Given the description of an element on the screen output the (x, y) to click on. 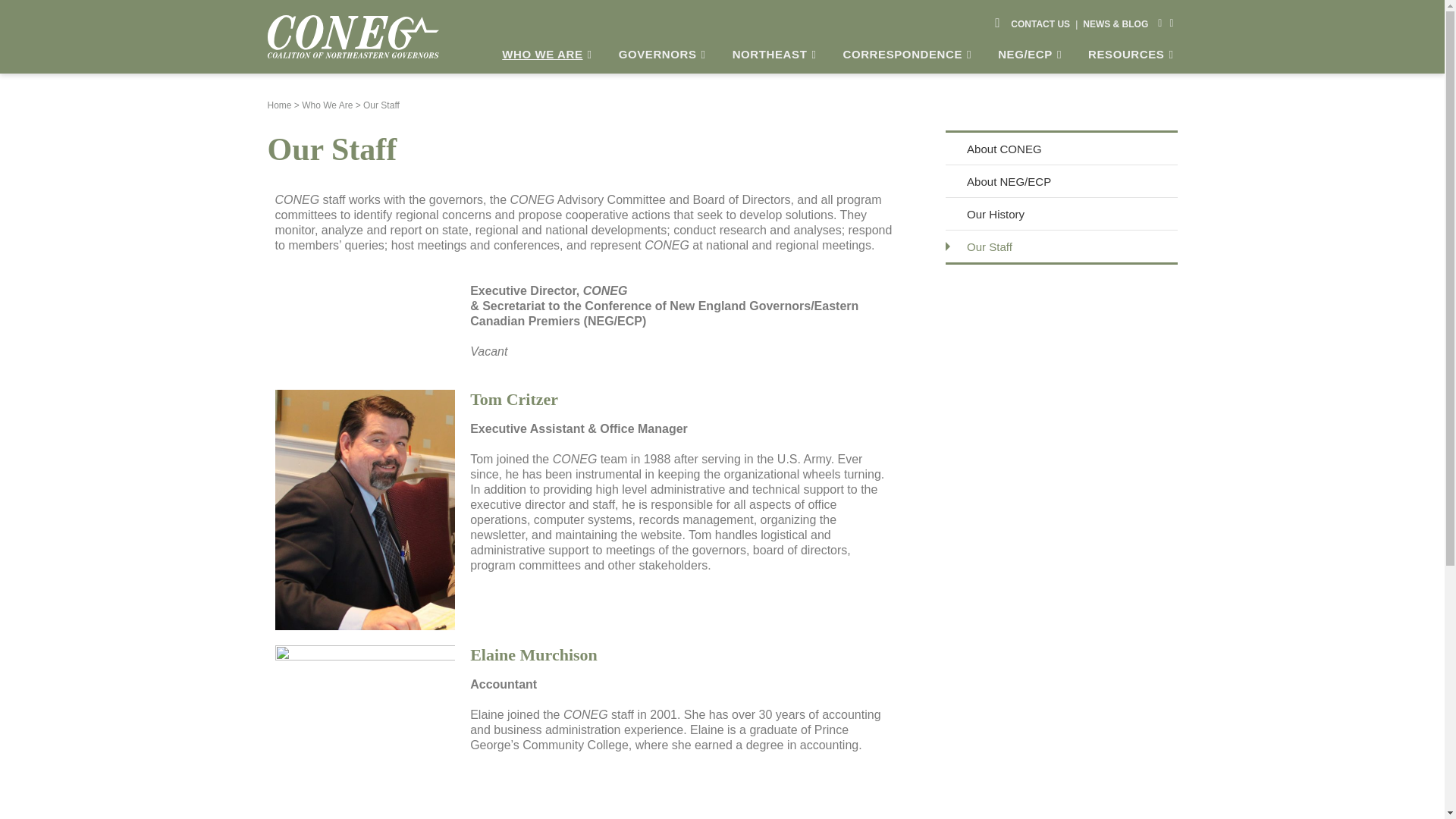
Go to Who We Are. (326, 104)
GOVERNORS (663, 54)
RESOURCES (1133, 54)
WHO WE ARE (548, 54)
NORTHEAST (775, 54)
CONTACT US (1040, 23)
CORRESPONDENCE (909, 54)
Go to home. (278, 104)
